Given the description of an element on the screen output the (x, y) to click on. 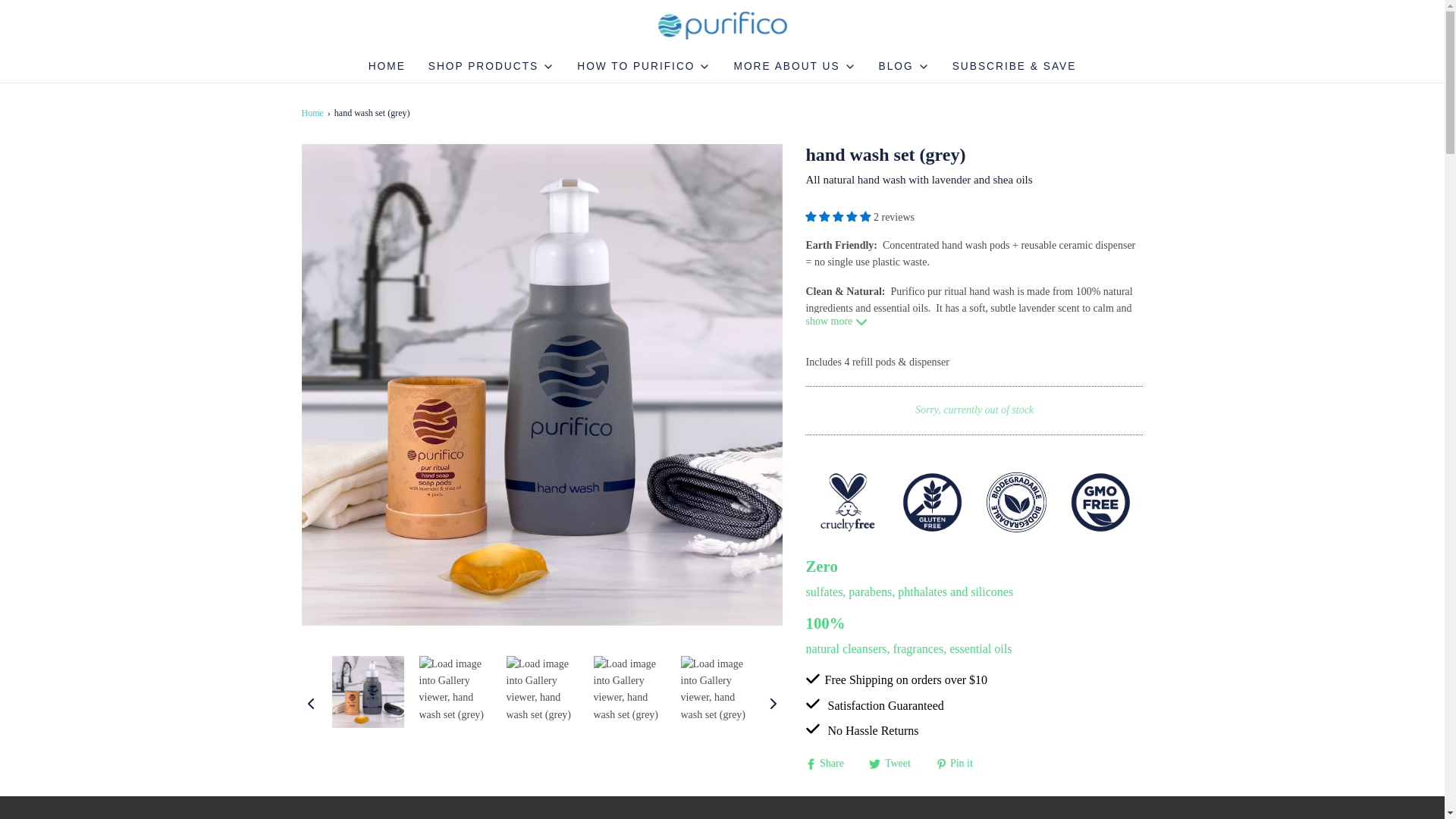
Back to the frontpage (314, 113)
HOME (387, 66)
